Given the description of an element on the screen output the (x, y) to click on. 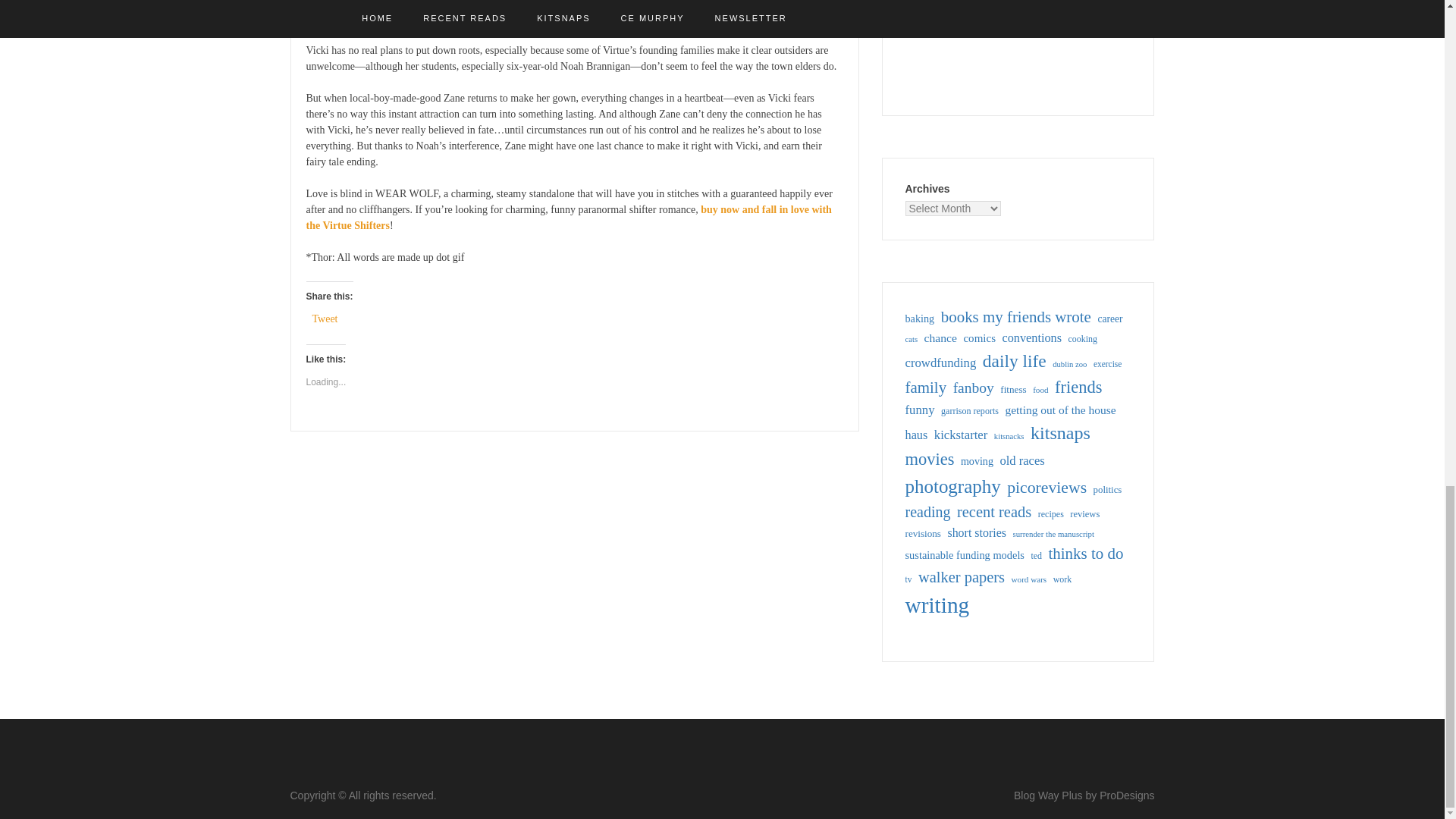
exercise (1107, 364)
books my friends wrote (1015, 317)
crowdfunding (940, 362)
comics (978, 338)
daily life (1014, 361)
buy now and fall in love with the Virtue Shifters (568, 216)
cats (911, 339)
kitsnaps (1060, 432)
funny (919, 409)
conventions (1032, 338)
